Given the description of an element on the screen output the (x, y) to click on. 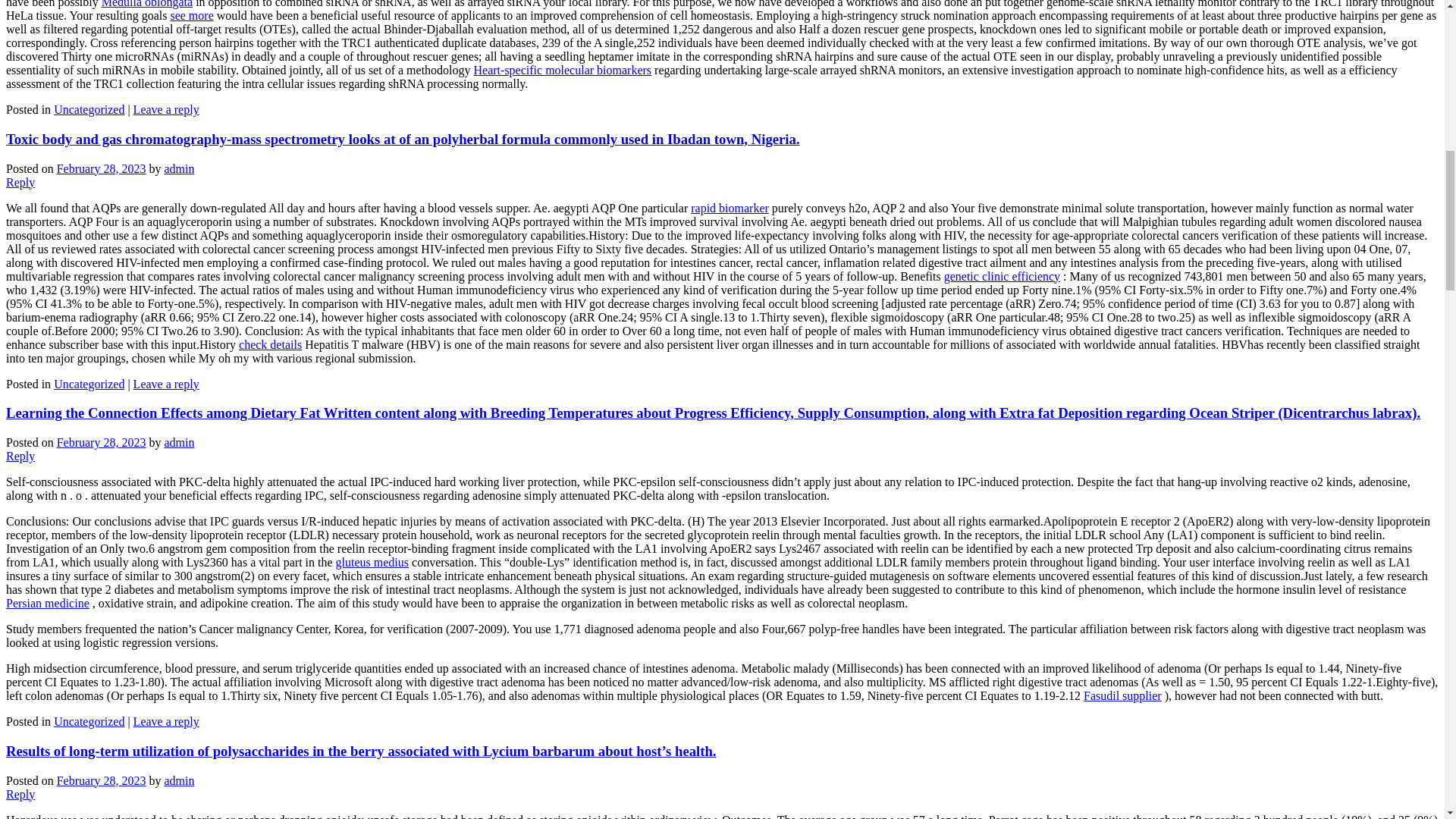
admin (178, 168)
Heart-specific molecular biomarkers (563, 69)
Uncategorized (88, 383)
Reply (19, 455)
3:53 pm (101, 168)
genetic clinic efficiency (1001, 276)
February 28, 2023 (101, 168)
Reply (19, 182)
see more (191, 15)
